Given the description of an element on the screen output the (x, y) to click on. 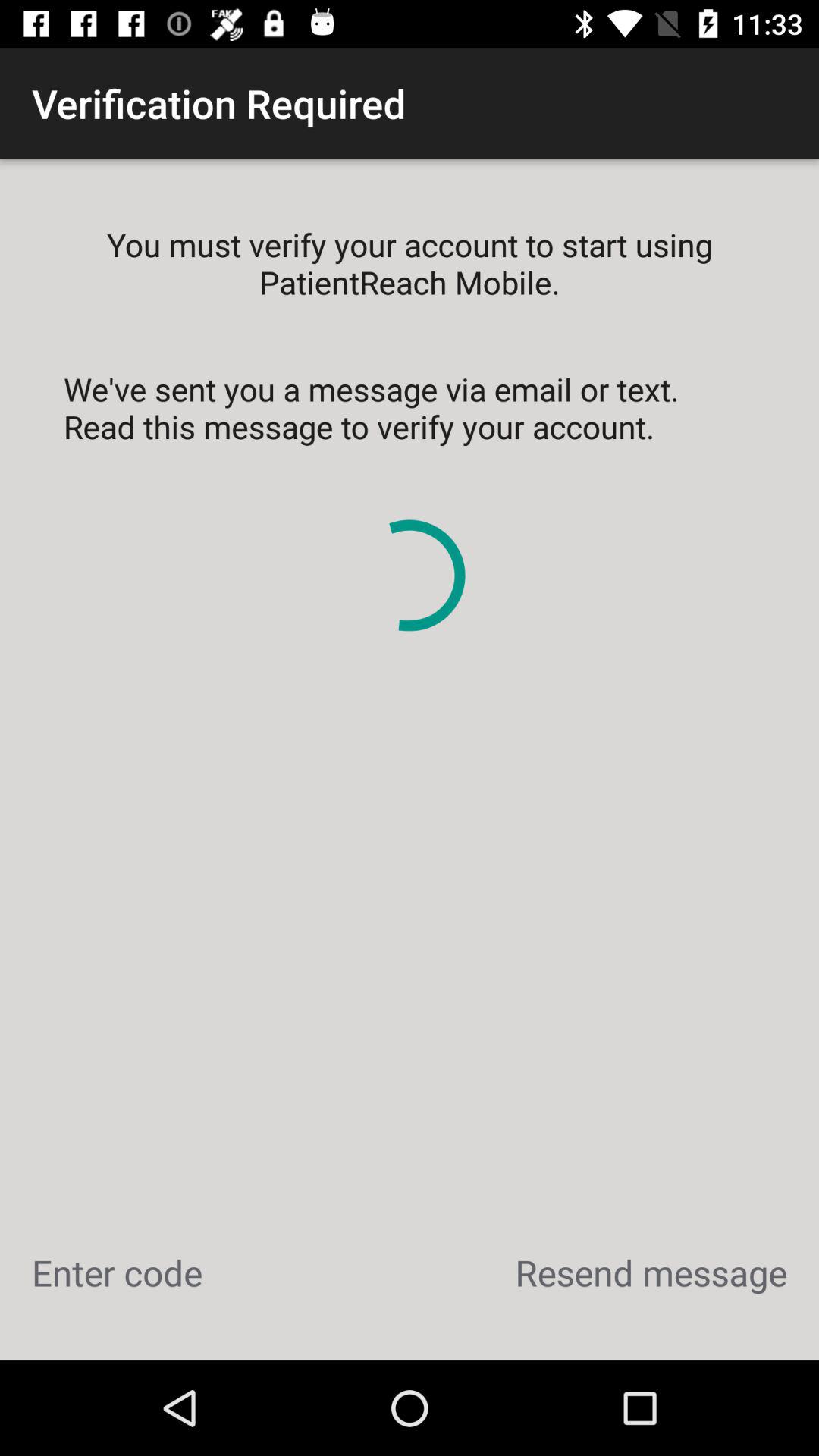
open resend message item (651, 1272)
